Given the description of an element on the screen output the (x, y) to click on. 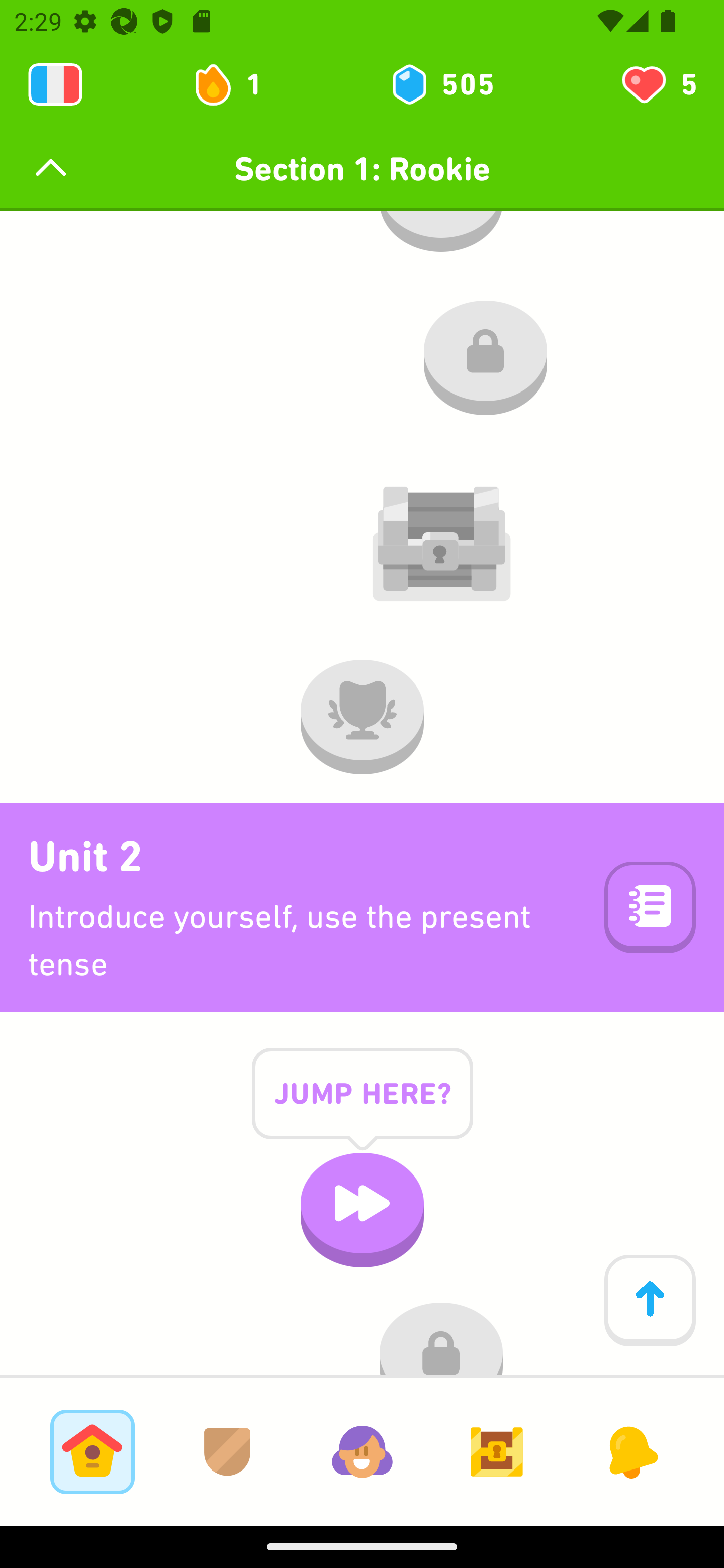
Learning 2131888976 (55, 84)
1 day streak 1 (236, 84)
505 (441, 84)
You have 5 hearts left 5 (657, 84)
Section 1: Rookie (362, 169)
JUMP HERE? (361, 1108)
Learn Tab (91, 1451)
Leagues Tab (227, 1451)
Profile Tab (361, 1451)
Goals Tab (496, 1451)
News Tab (631, 1451)
